Given the description of an element on the screen output the (x, y) to click on. 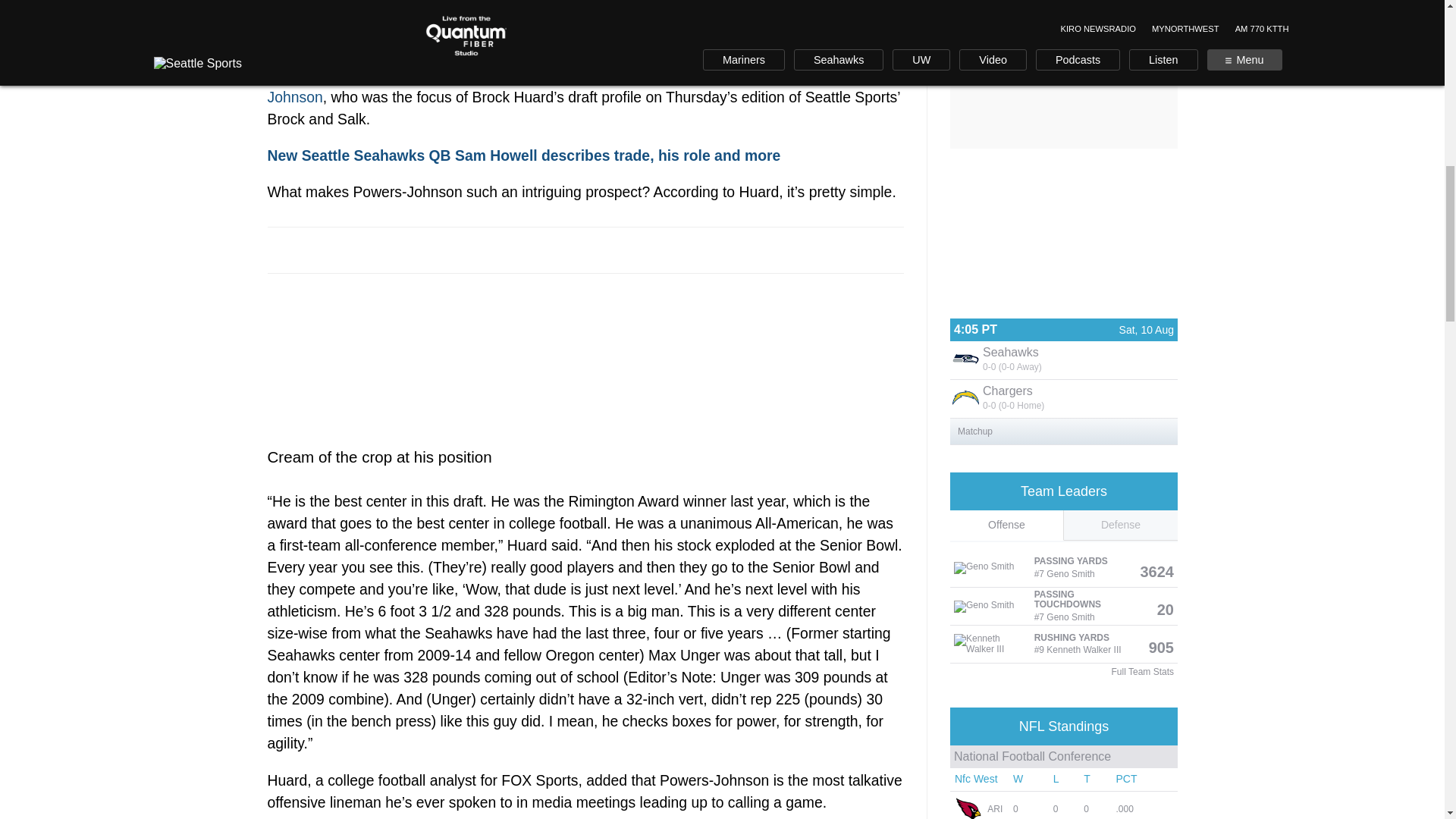
widget (1062, 763)
widget (1062, 382)
widget (1062, 576)
